Given the description of an element on the screen output the (x, y) to click on. 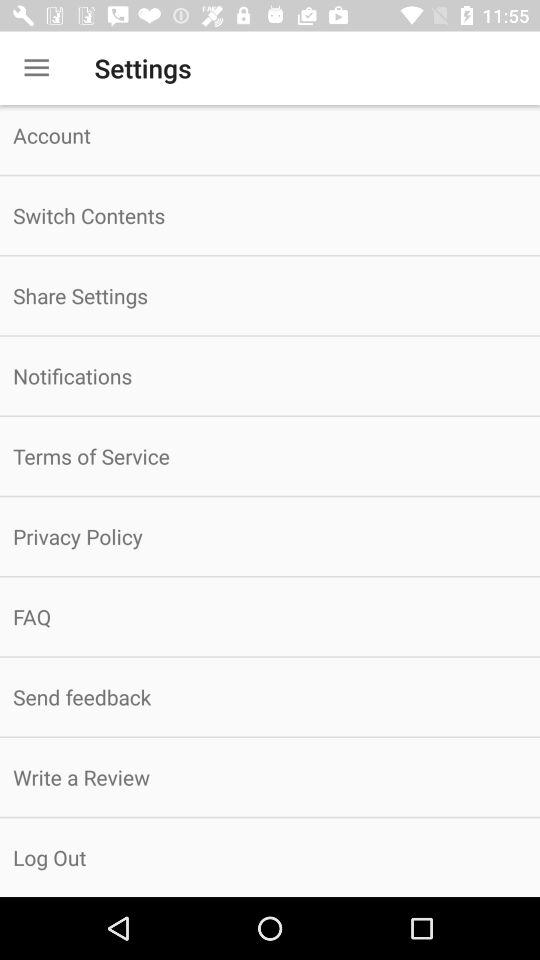
jump until share settings item (270, 295)
